Given the description of an element on the screen output the (x, y) to click on. 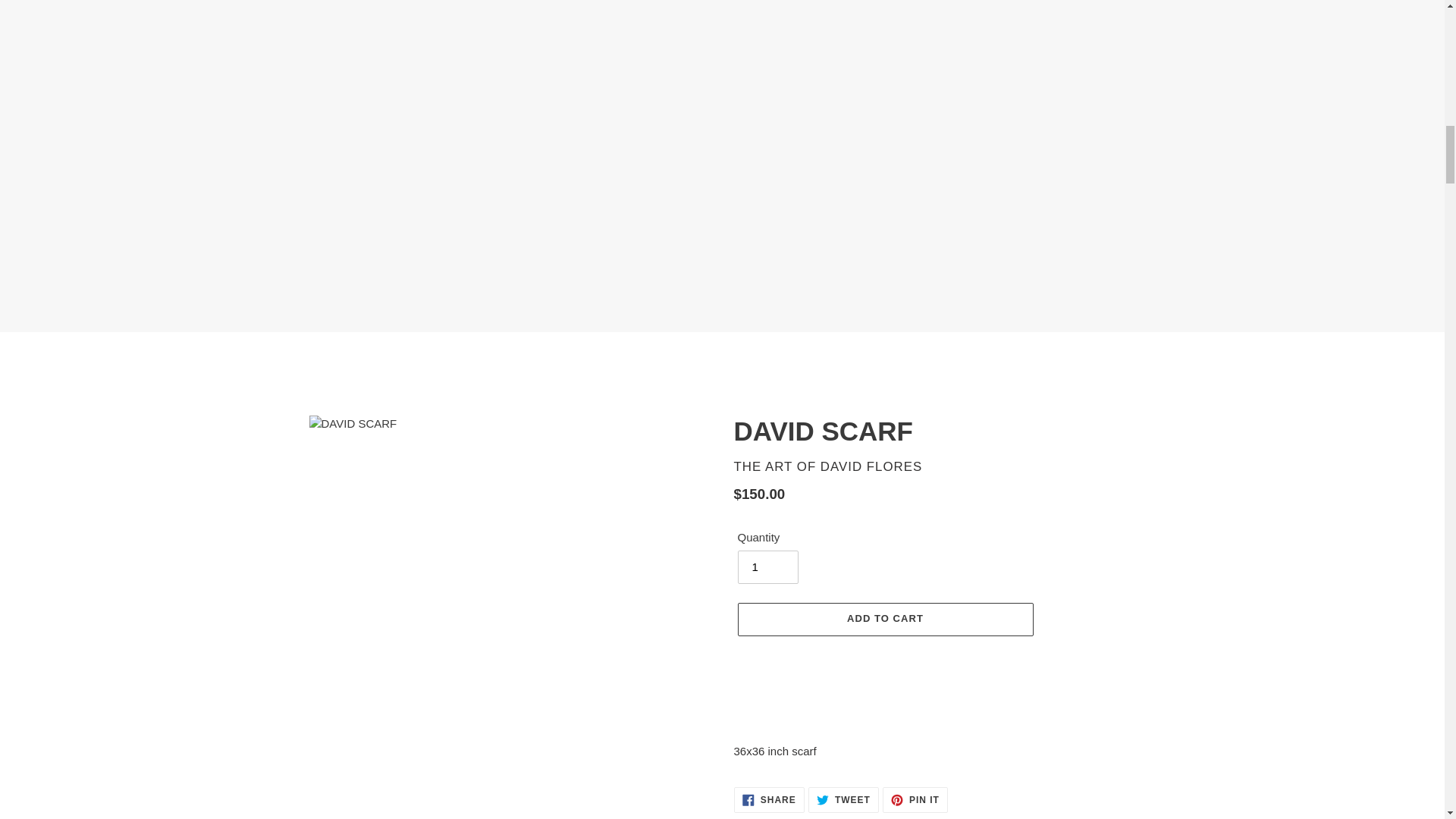
1 (766, 566)
ADD TO CART (884, 619)
